Given the description of an element on the screen output the (x, y) to click on. 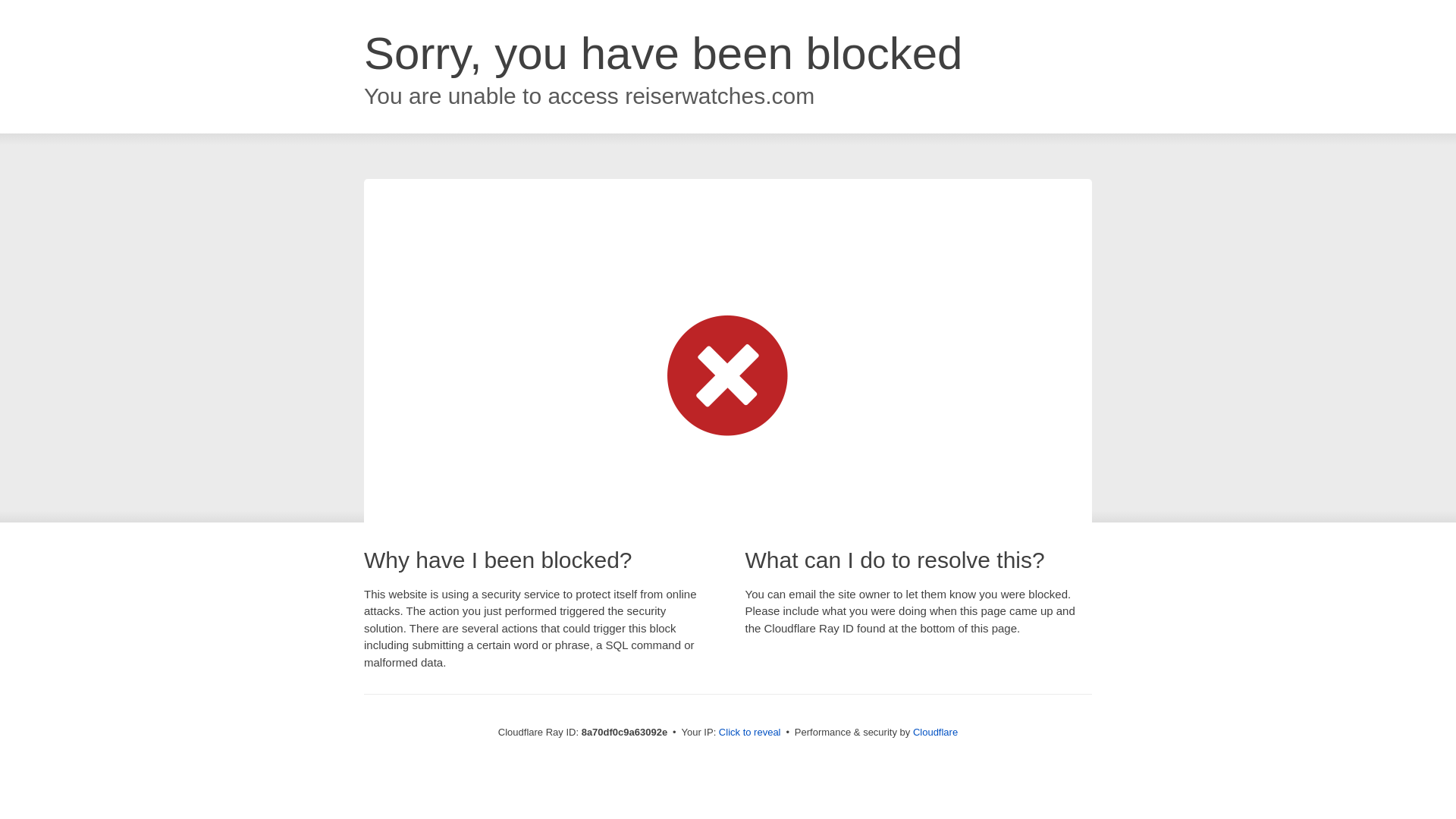
Click to reveal (749, 732)
Cloudflare (935, 731)
